Given the description of an element on the screen output the (x, y) to click on. 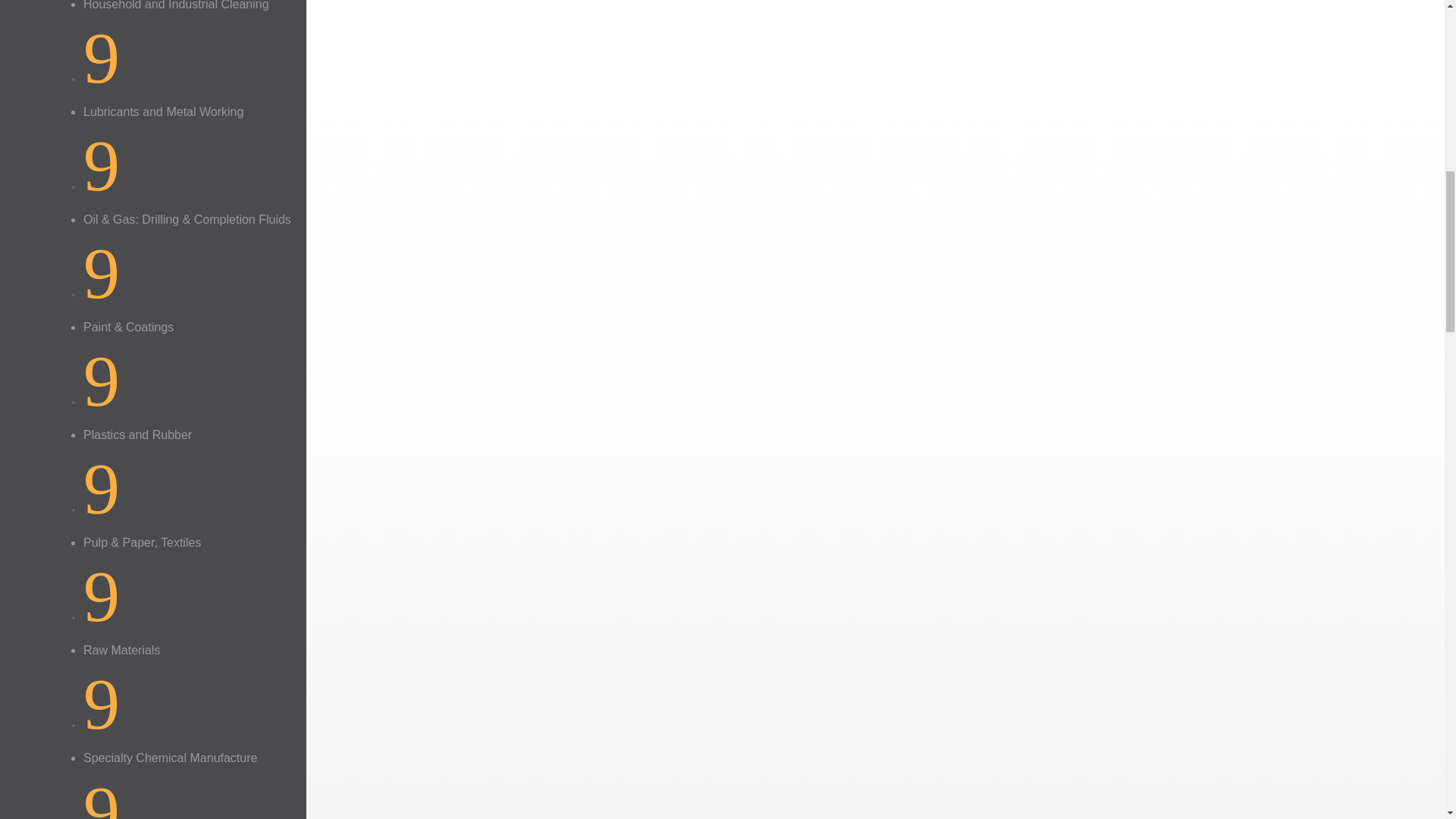
Household and Industrial Cleaning (175, 5)
Specialty Chemical Manufacture (169, 757)
Lubricants and Metal Working (162, 111)
Raw Materials (121, 649)
Plastics and Rubber (137, 434)
